Given the description of an element on the screen output the (x, y) to click on. 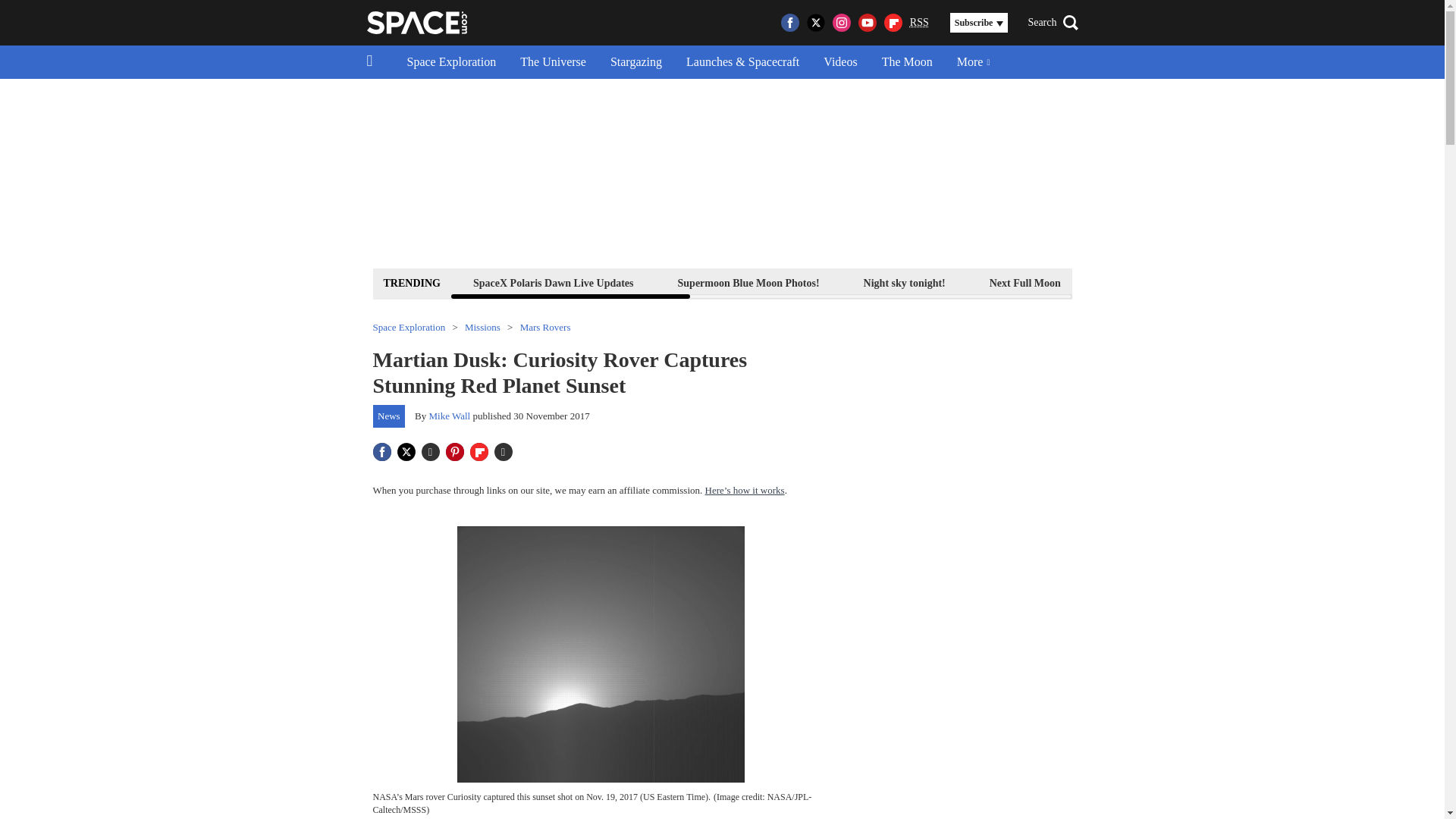
Next Full Moon (1024, 282)
Best Binoculars (1253, 282)
Really Simple Syndication (919, 21)
Space Exploration (451, 61)
Best Telescopes (1139, 282)
The Universe (553, 61)
Supermoon Blue Moon Photos! (748, 282)
Stargazing (636, 61)
Night sky tonight! (904, 282)
Best Star Projectors (1378, 282)
